Given the description of an element on the screen output the (x, y) to click on. 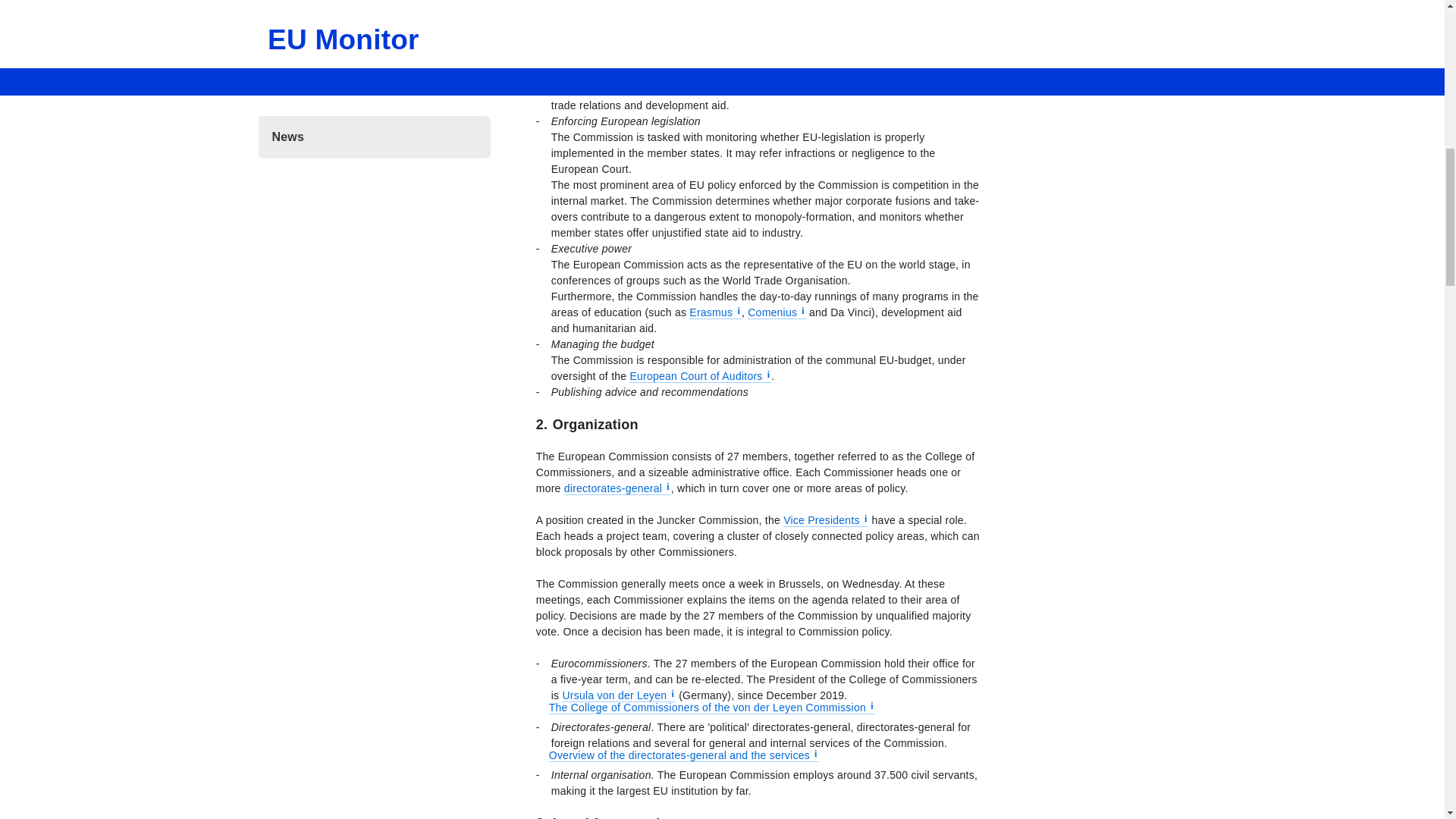
European Court of Auditors i (699, 376)
Comenius i (777, 312)
Ursula von der Leyen i (618, 695)
Vice Presidents i (825, 520)
directorates-general i (617, 488)
Overview of the directorates-general and the services i (683, 755)
Erasmus i (714, 312)
